Given the description of an element on the screen output the (x, y) to click on. 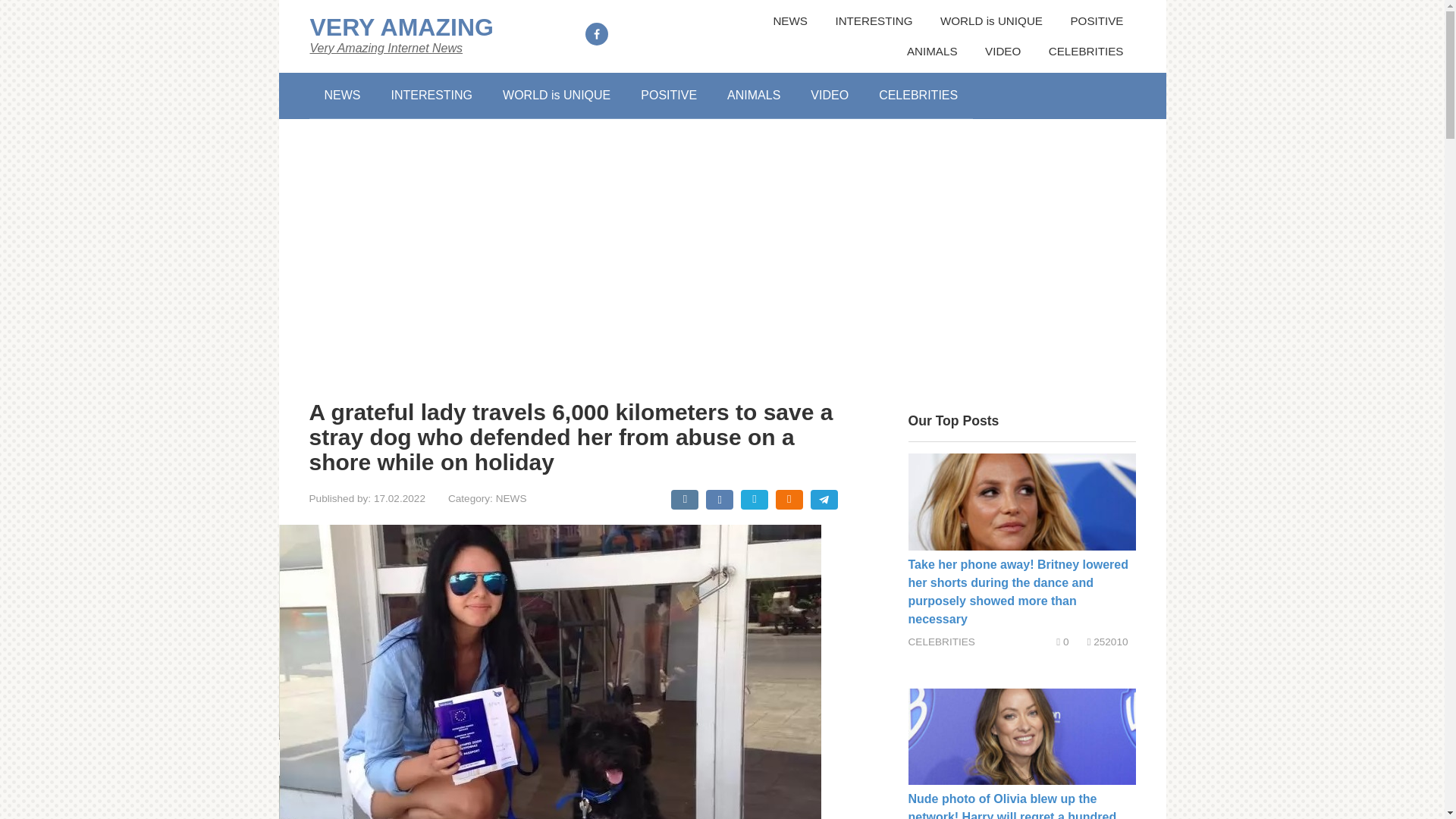
WORLD is UNIQUE (991, 20)
POSITIVE (1096, 20)
INTERESTING (431, 94)
NEWS (341, 94)
INTERESTING (873, 20)
NEWS (511, 498)
WORLD is UNIQUE (556, 94)
POSITIVE (668, 94)
NEWS (790, 20)
ANIMALS (752, 94)
VIDEO (828, 94)
CELEBRITIES (917, 94)
ANIMALS (932, 51)
VERY AMAZING (400, 26)
